Given the description of an element on the screen output the (x, y) to click on. 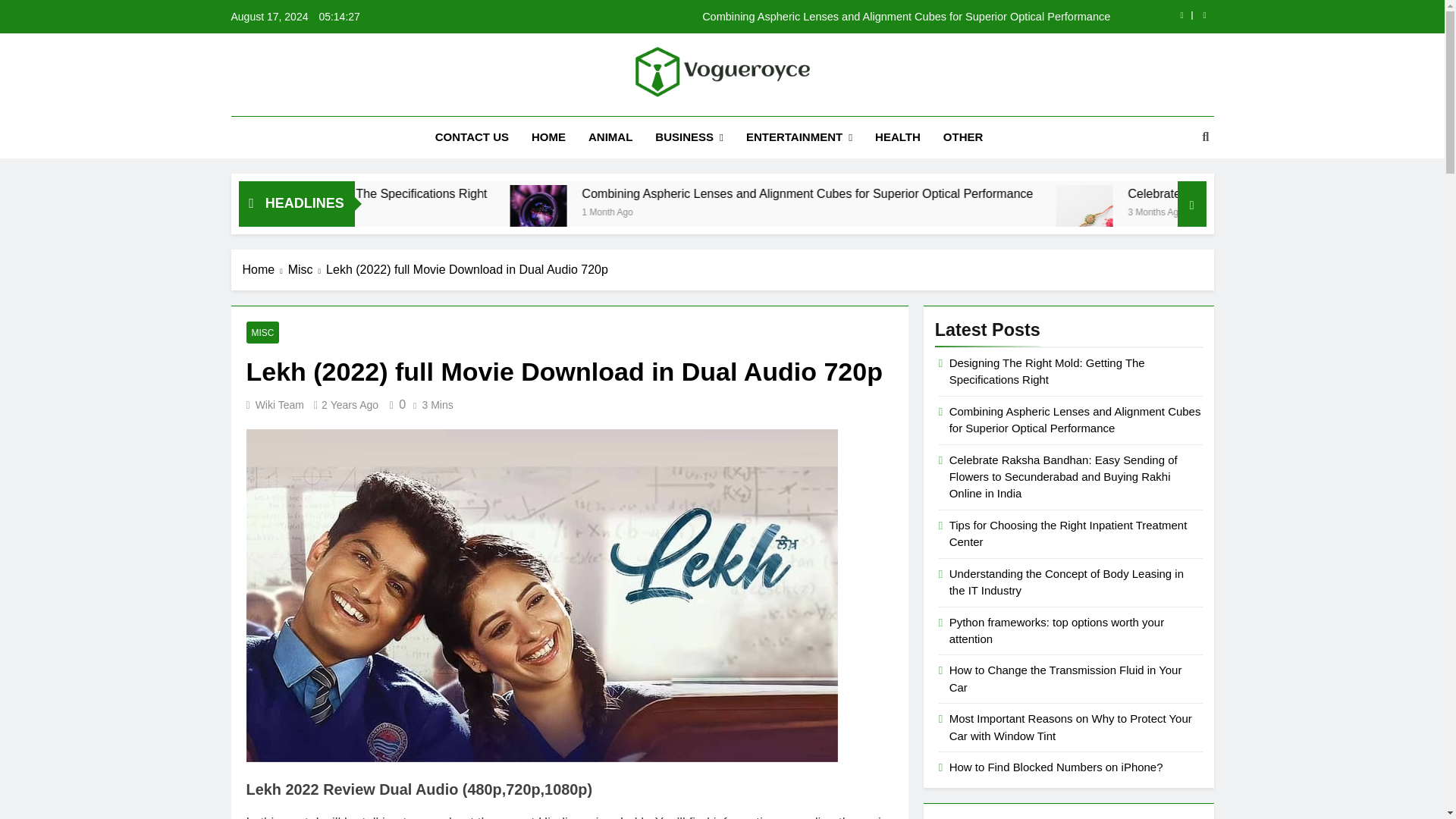
HOME (547, 137)
1 Month Ago (790, 210)
Designing The Right Mold: Getting The Specifications Right (519, 193)
HEALTH (897, 137)
OTHER (962, 137)
ANIMAL (609, 137)
ENTERTAINMENT (799, 137)
